Given the description of an element on the screen output the (x, y) to click on. 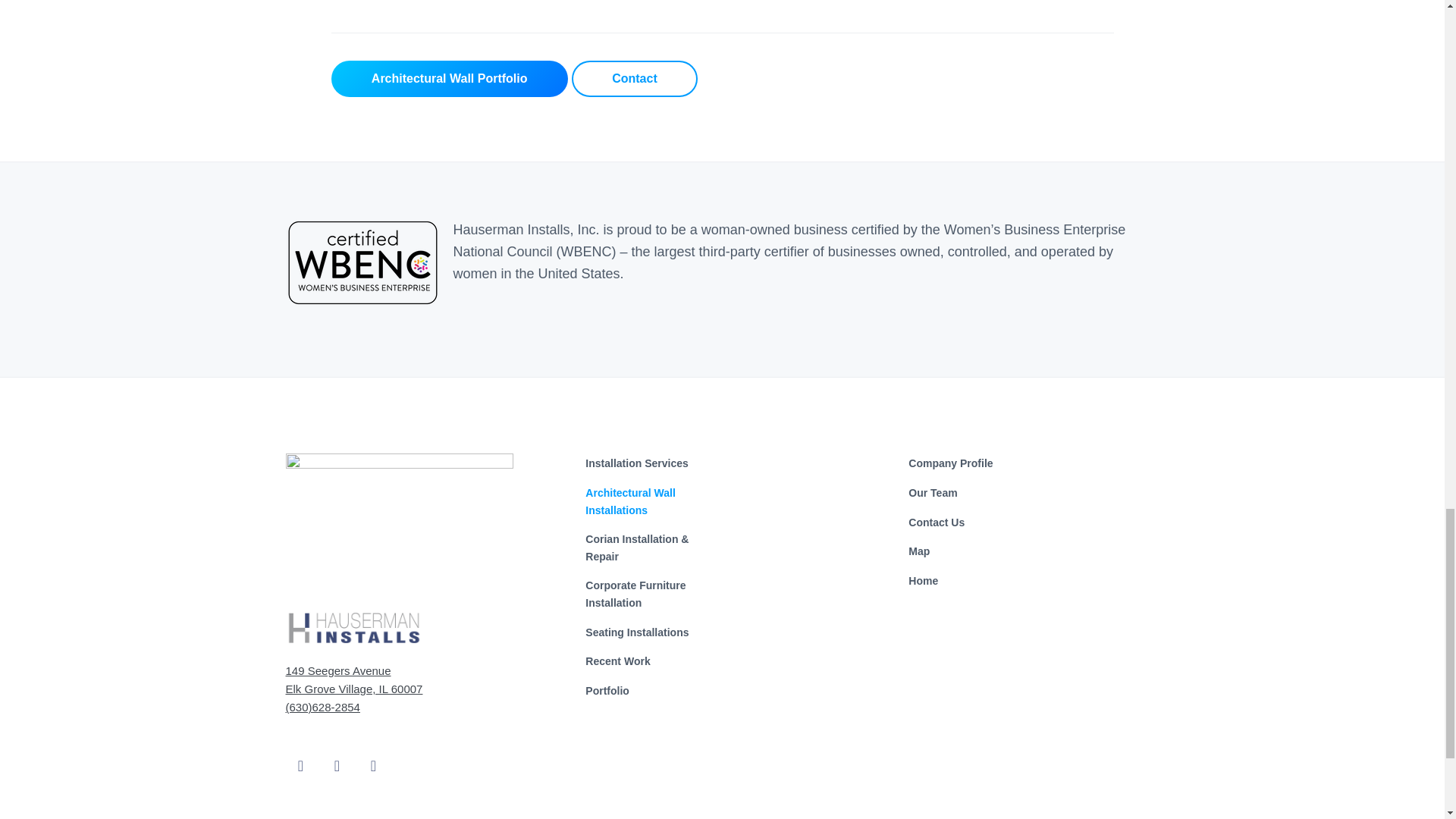
Instagram (336, 753)
LinkedIn (373, 753)
Facebook (300, 753)
